Given the description of an element on the screen output the (x, y) to click on. 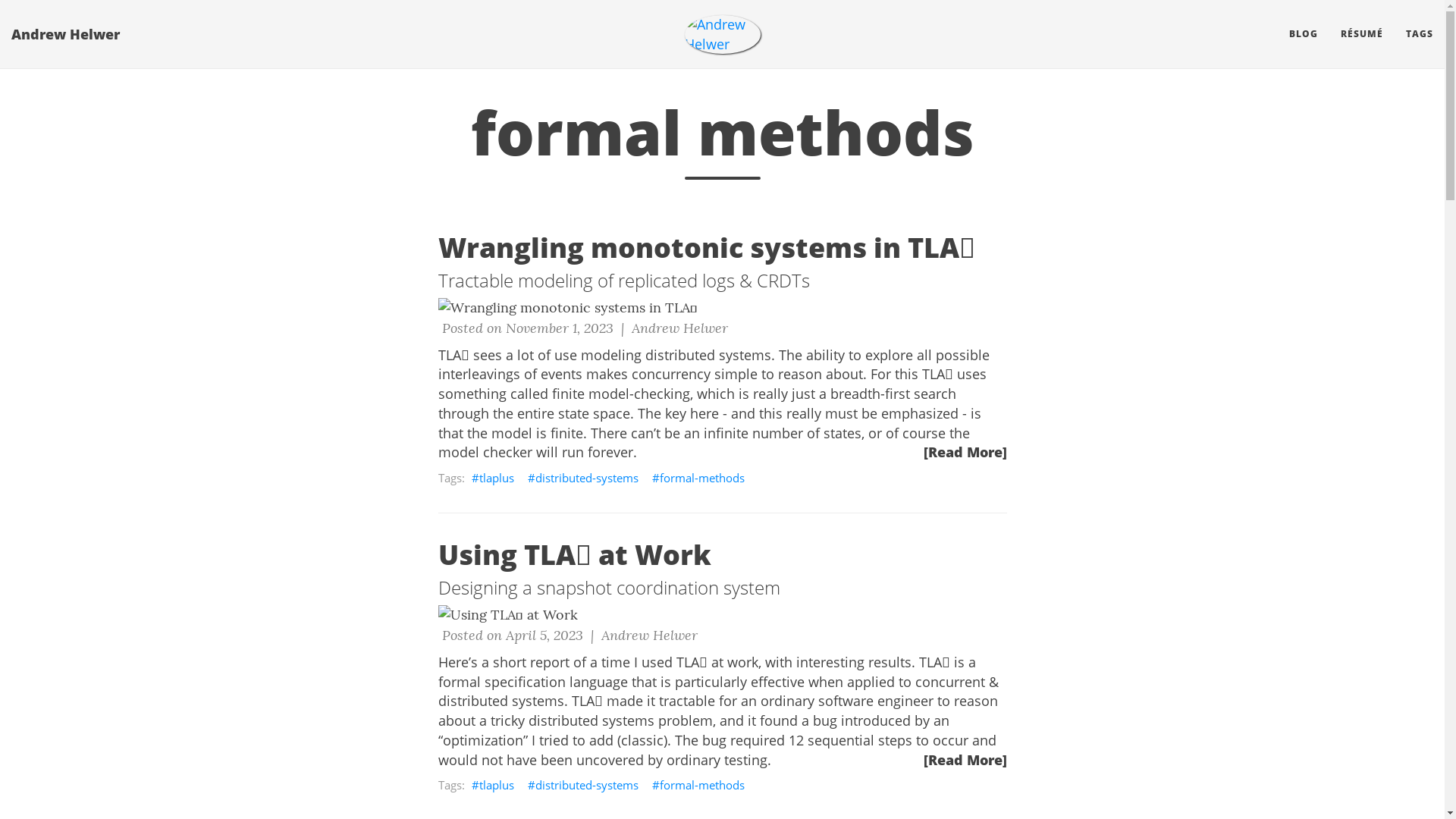
Andrew Helwer Element type: text (65, 34)
[Read More] Element type: text (965, 452)
BLOG Element type: text (1303, 34)
formal-methods Element type: text (697, 477)
[Read More] Element type: text (965, 760)
Andrew Helwer Element type: hover (721, 34)
distributed-systems Element type: text (582, 477)
tlaplus Element type: text (492, 784)
tlaplus Element type: text (492, 477)
TAGS Element type: text (1419, 34)
formal-methods Element type: text (697, 784)
distributed-systems Element type: text (582, 784)
